Given the description of an element on the screen output the (x, y) to click on. 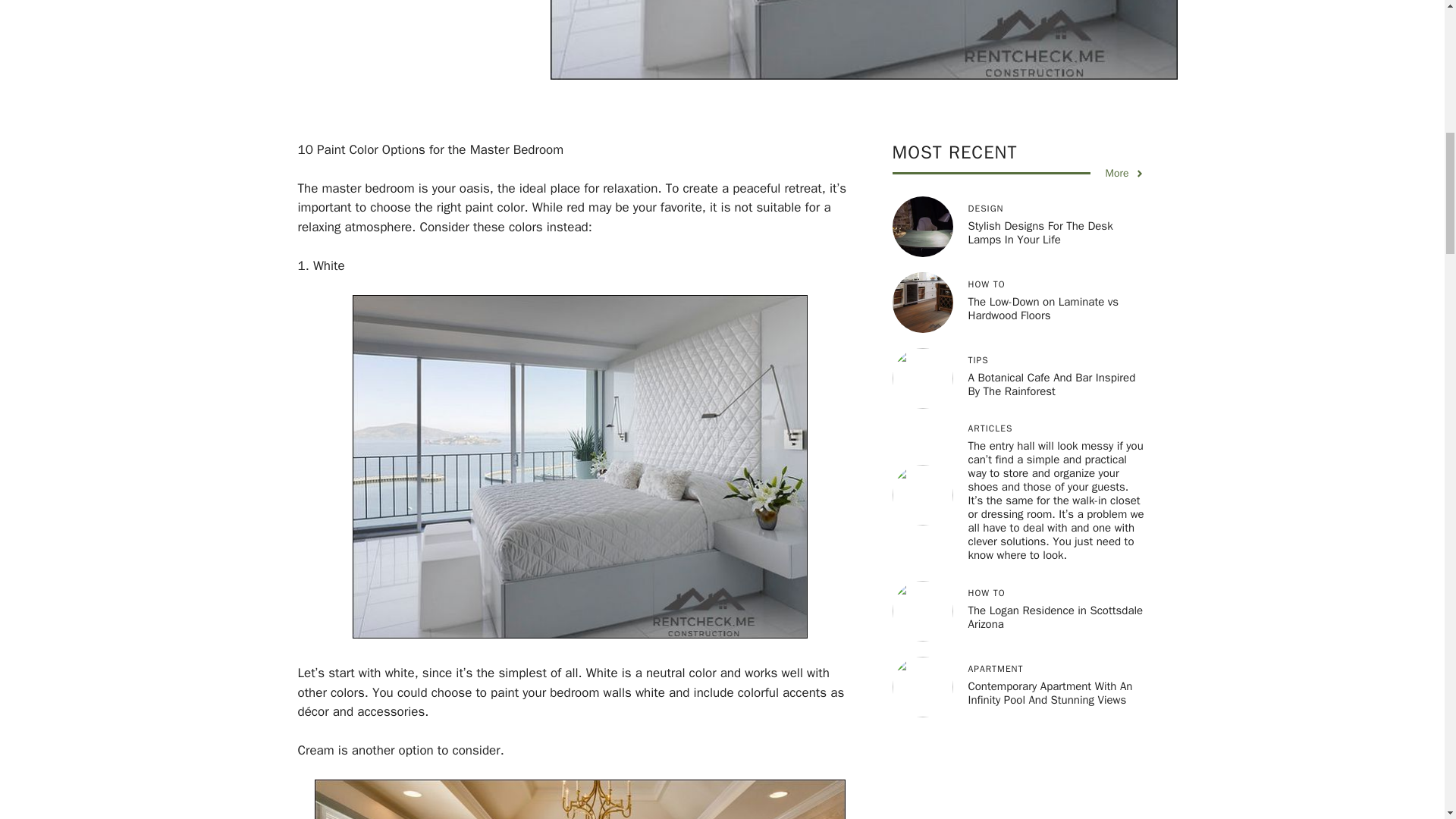
More (1124, 172)
Stylish Designs For The Desk Lamps In Your Life (1040, 232)
The Low-Down on Laminate vs Hardwood Floors (1043, 308)
10 Paint Color Options Suitable For The Master Bedroom (579, 799)
